Given the description of an element on the screen output the (x, y) to click on. 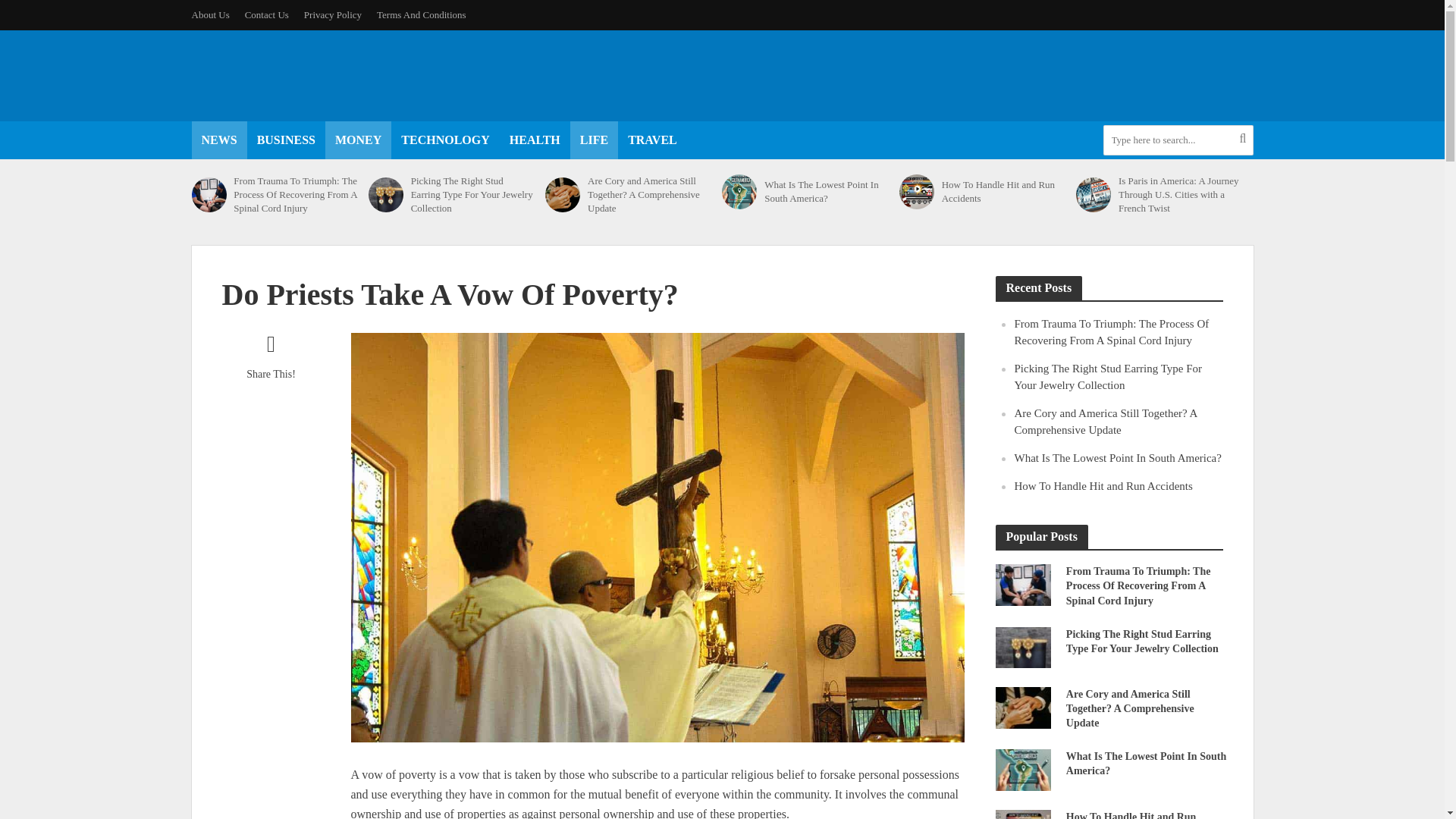
About Us (212, 15)
LIFE (593, 139)
HEALTH (534, 139)
TECHNOLOGY (445, 139)
Terms And Conditions (421, 15)
Privacy Policy (333, 15)
What Is The Lowest Point In South America? (1021, 768)
TRAVEL (652, 139)
